Given the description of an element on the screen output the (x, y) to click on. 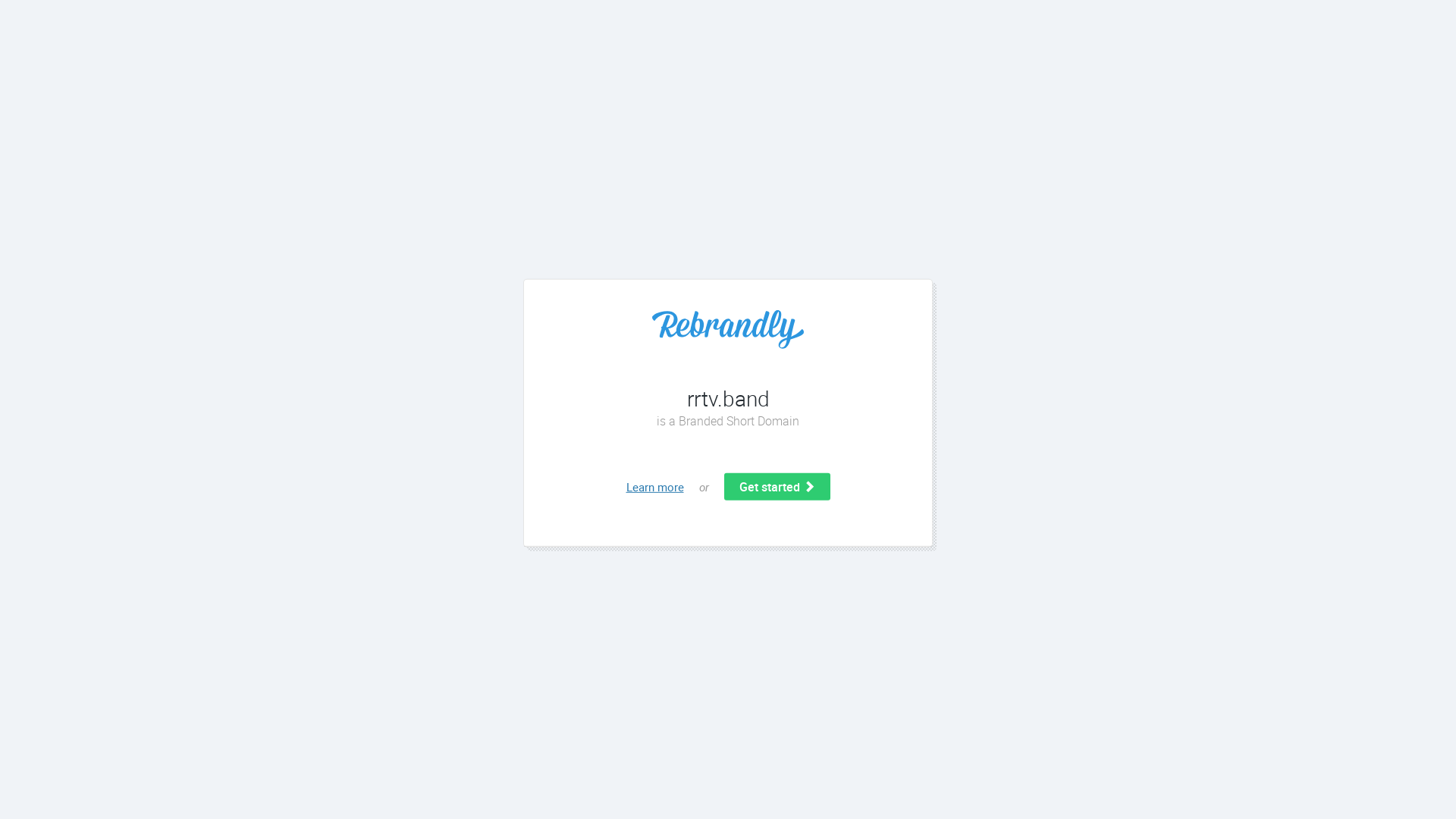
Get started Element type: text (776, 486)
Learn more Element type: text (655, 486)
